Given the description of an element on the screen output the (x, y) to click on. 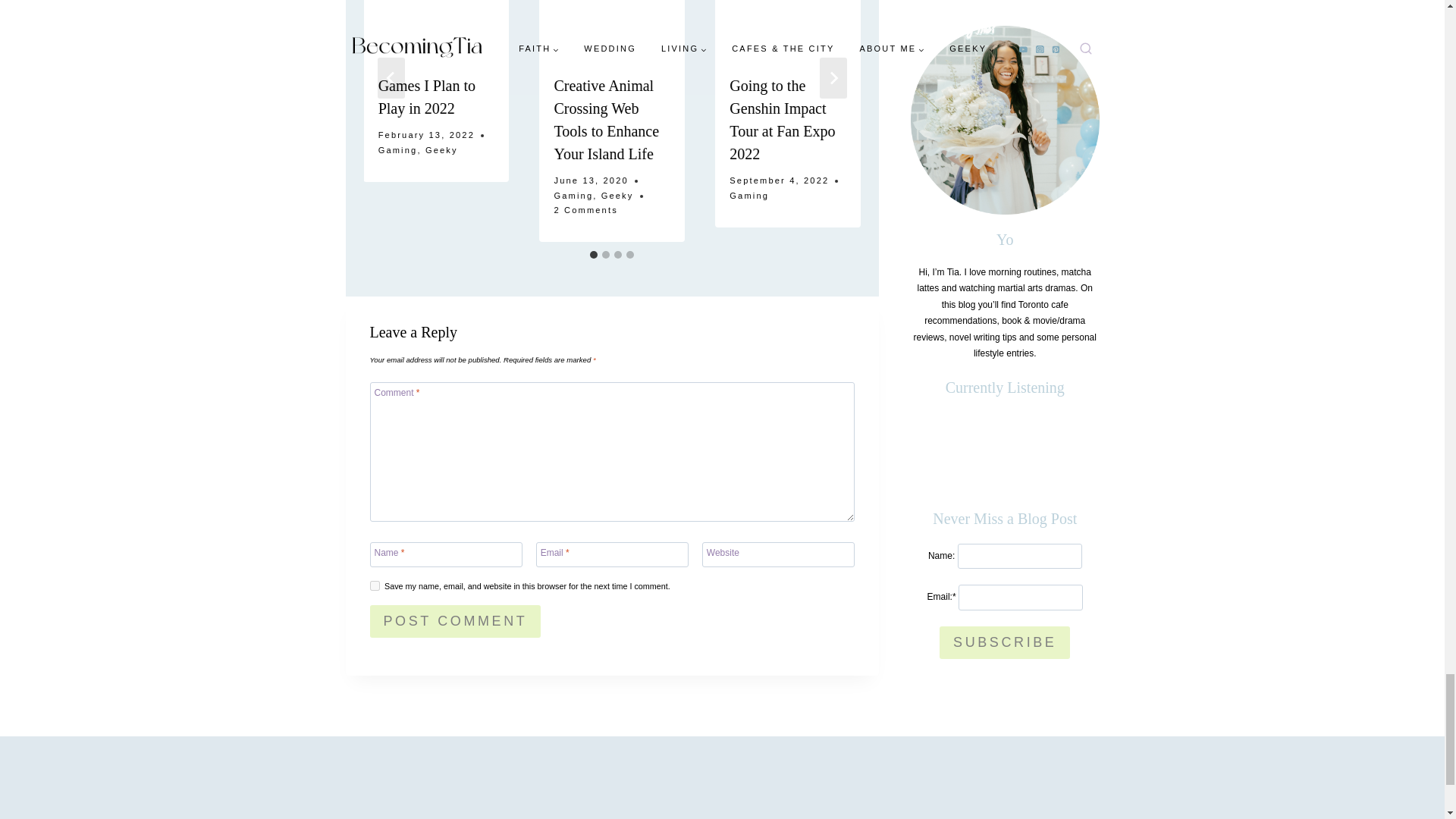
2 Comments (585, 210)
yes (374, 585)
Post Comment (455, 621)
V L O G S (149, 791)
